Given the description of an element on the screen output the (x, y) to click on. 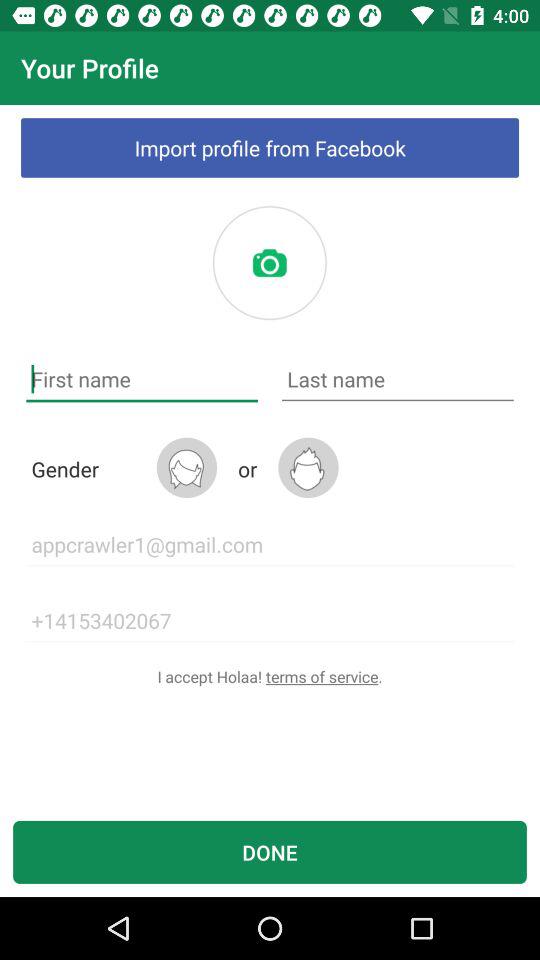
add profile photo (269, 263)
